Given the description of an element on the screen output the (x, y) to click on. 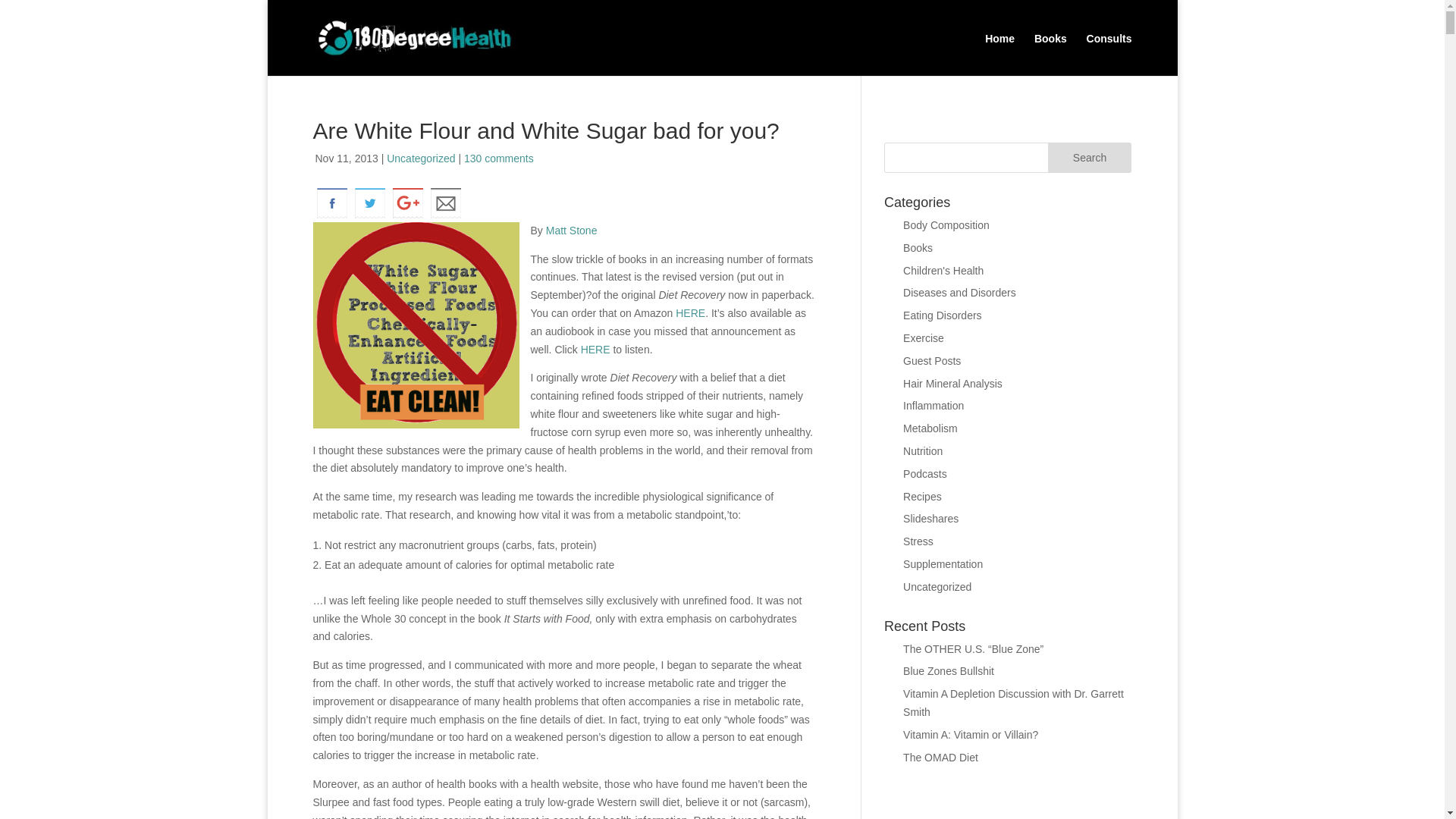
Search (1090, 157)
email (445, 202)
Consults (1109, 49)
Uncategorized (420, 158)
Matt Stone (571, 230)
Home (999, 49)
twitter (369, 202)
HERE (595, 349)
HERE (689, 313)
facebook (331, 202)
